Given the description of an element on the screen output the (x, y) to click on. 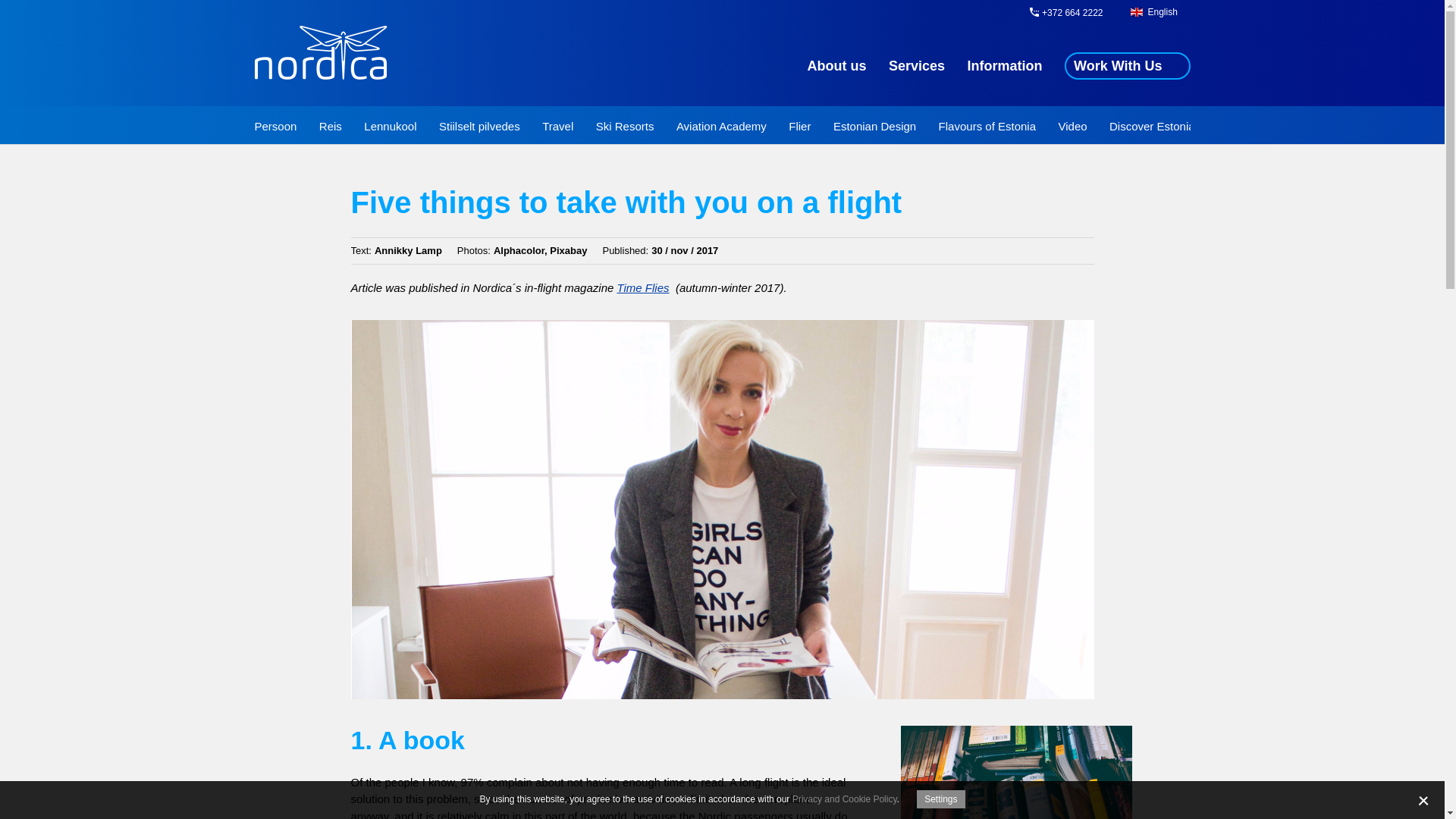
Persoon (275, 127)
Flavours of Estonia (987, 127)
Ski Resorts (624, 127)
Settings (940, 799)
About us (837, 67)
Lennukool (390, 127)
Reis (330, 127)
English (1166, 12)
Services (916, 67)
Services (916, 67)
Flier (799, 127)
Aviation Academy (722, 127)
Video (1072, 127)
Work With Us (1127, 65)
